Given the description of an element on the screen output the (x, y) to click on. 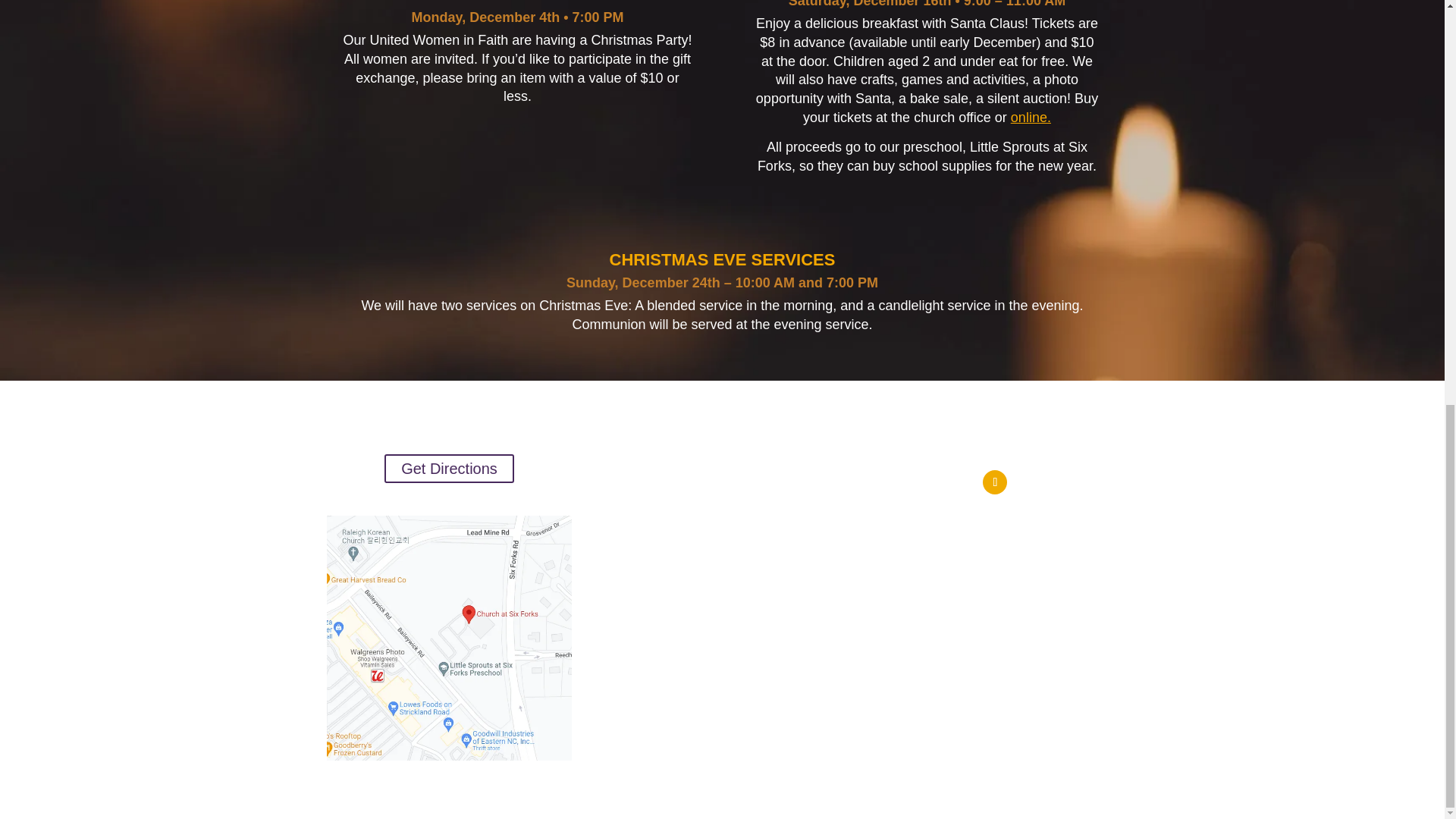
Follow on Facebook (994, 482)
Get Directions (448, 468)
online (1028, 117)
